Given the description of an element on the screen output the (x, y) to click on. 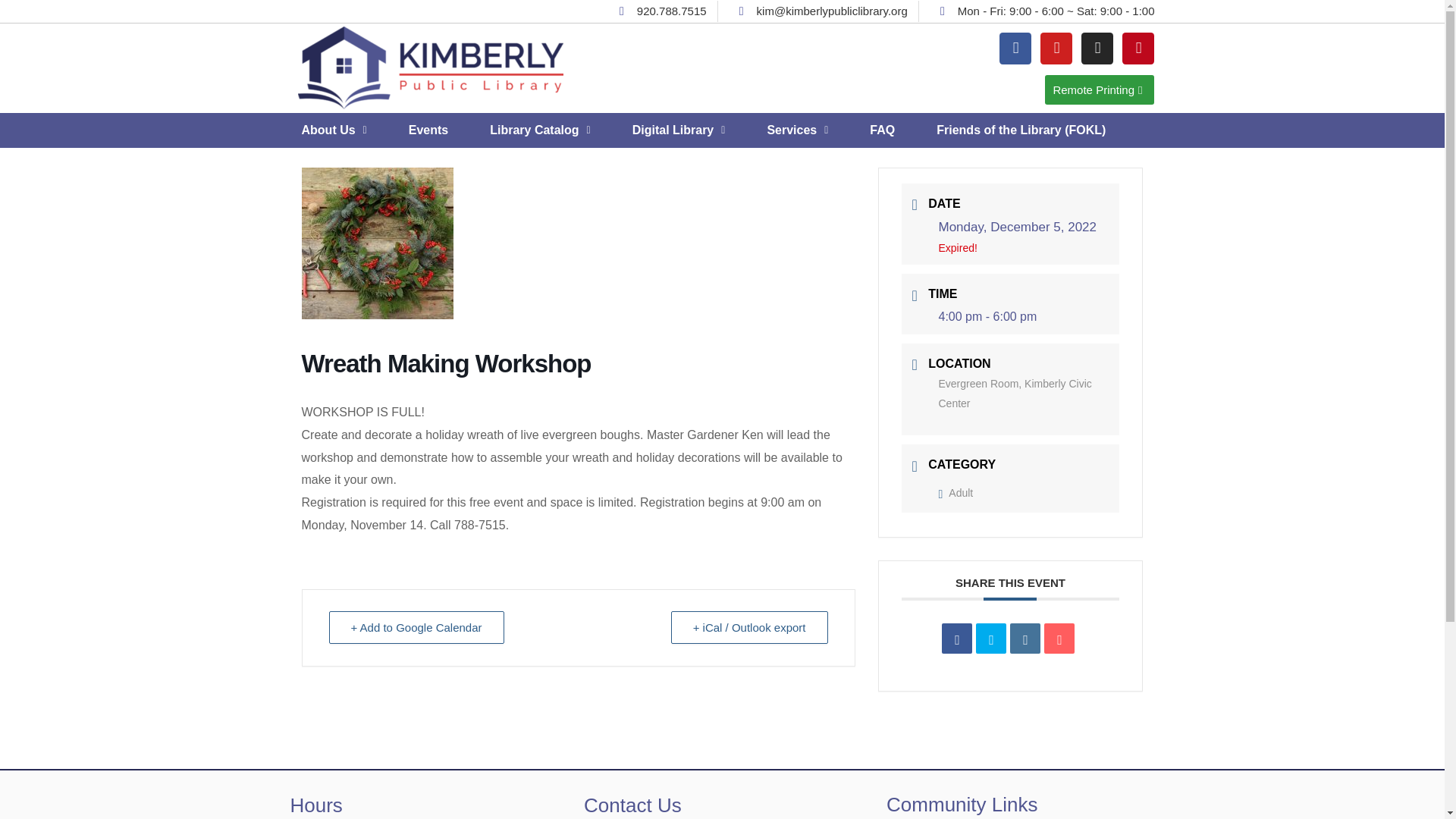
Email (1058, 638)
Pinterest (1138, 47)
Tweet (990, 638)
Remote Printing (1099, 89)
Instagram (1097, 47)
Adult (956, 492)
Youtube (1056, 47)
Services (797, 130)
FAQ (882, 130)
Library Catalog (540, 130)
Digital Library (678, 130)
Share on Facebook (957, 638)
Linkedin (1025, 638)
Contact Us (632, 804)
Events (428, 130)
